Given the description of an element on the screen output the (x, y) to click on. 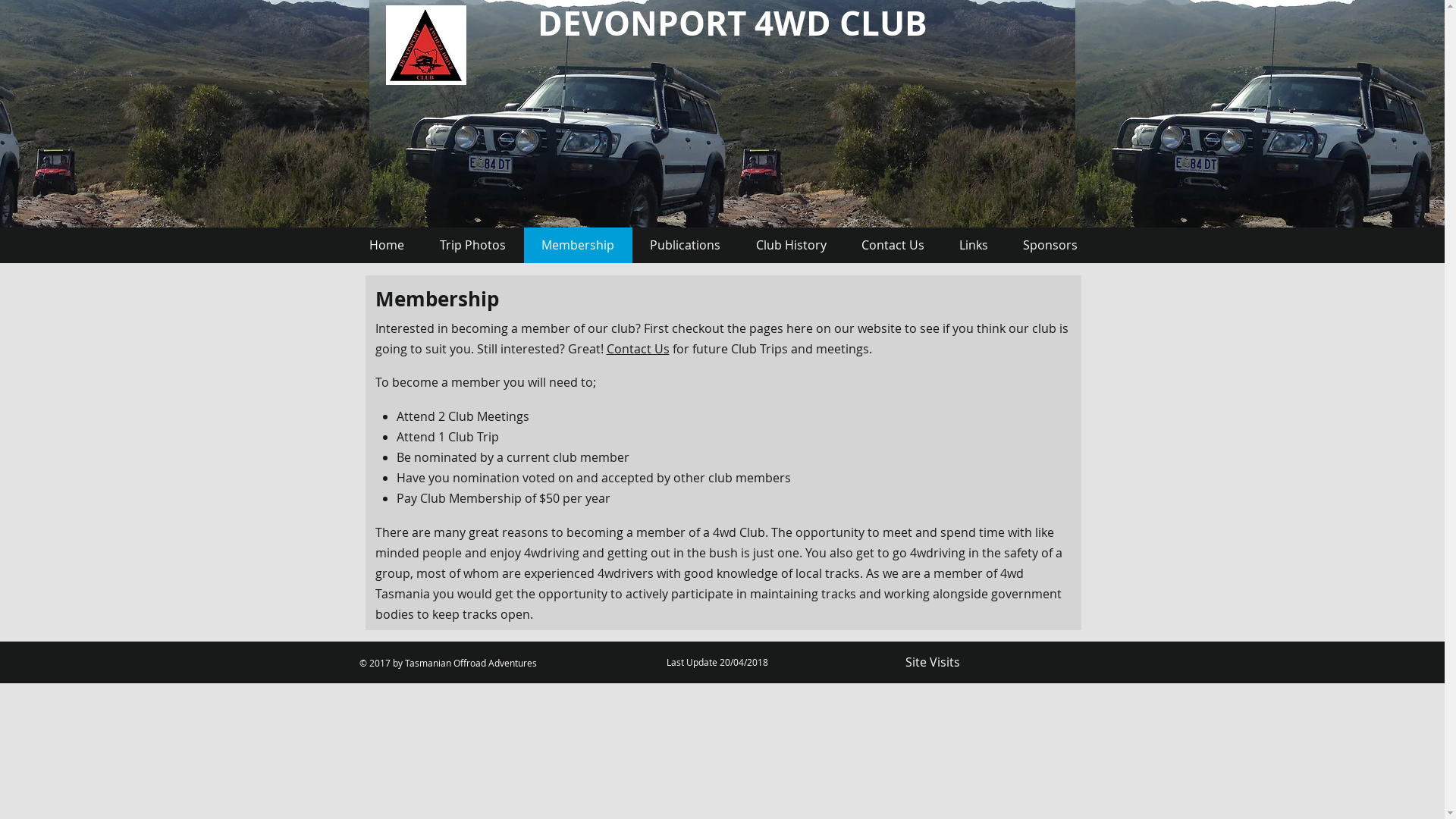
Trip Photos Element type: text (472, 245)
Contact Us Element type: text (637, 348)
Club History Element type: text (791, 245)
Links Element type: text (973, 245)
Contact Us Element type: text (892, 245)
Publications Element type: text (685, 245)
Home Element type: text (386, 245)
Membership Element type: text (577, 245)
Sponsors Element type: text (1050, 245)
Wix Hit Counter Element type: hover (1025, 662)
